Given the description of an element on the screen output the (x, y) to click on. 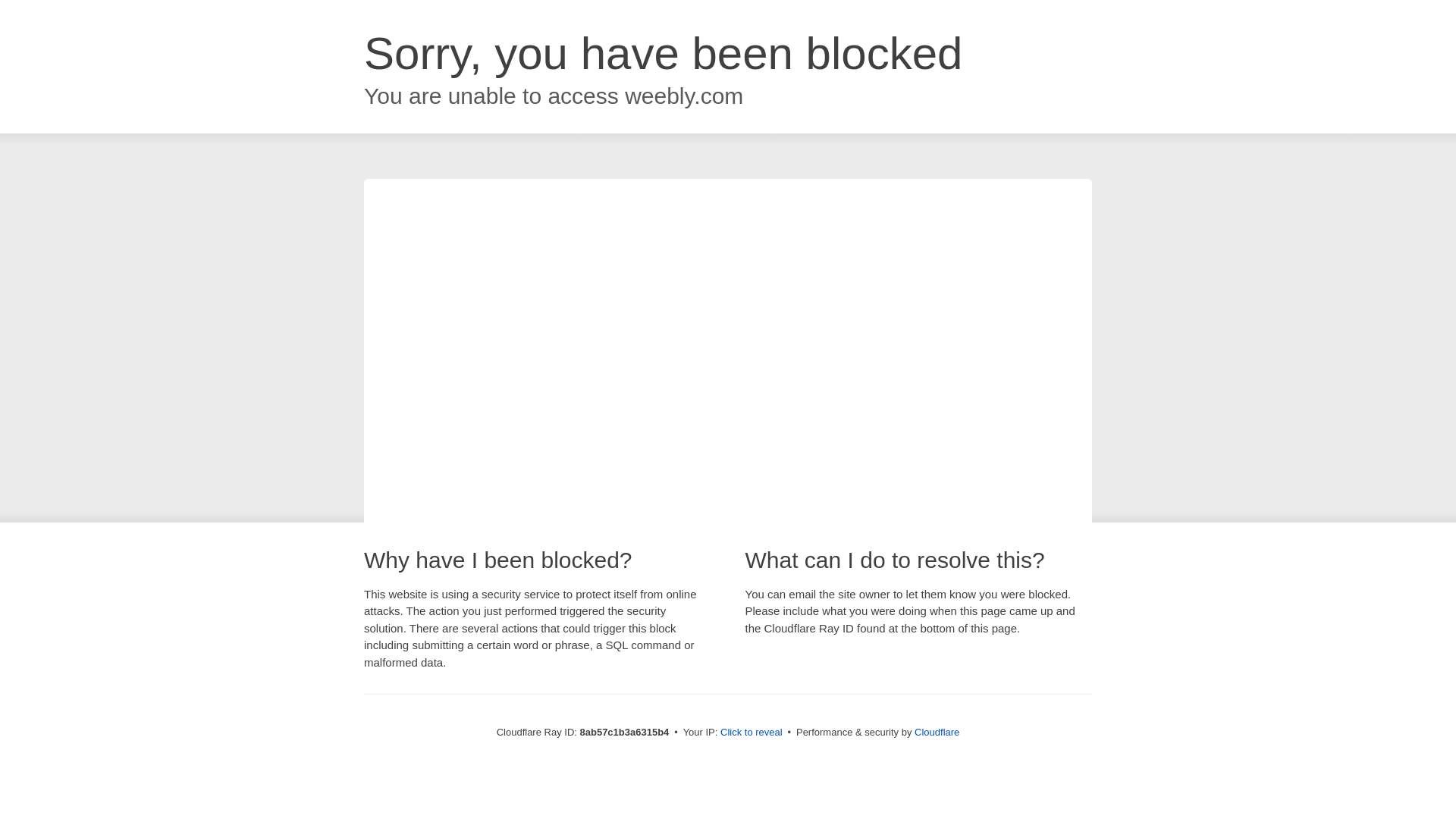
Click to reveal (751, 732)
Cloudflare (936, 731)
